Given the description of an element on the screen output the (x, y) to click on. 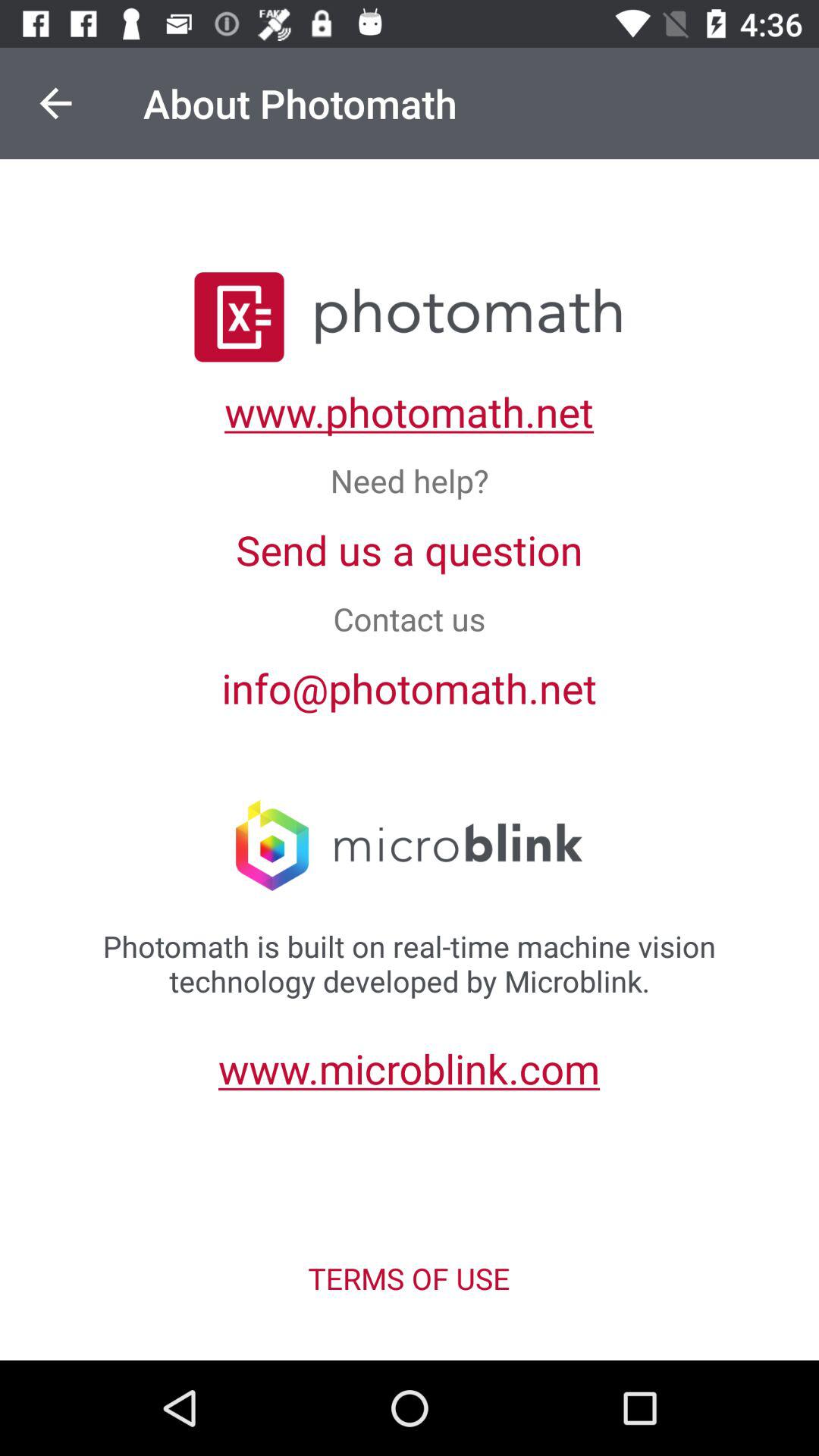
launch the icon below www.microblink.com (409, 1278)
